Given the description of an element on the screen output the (x, y) to click on. 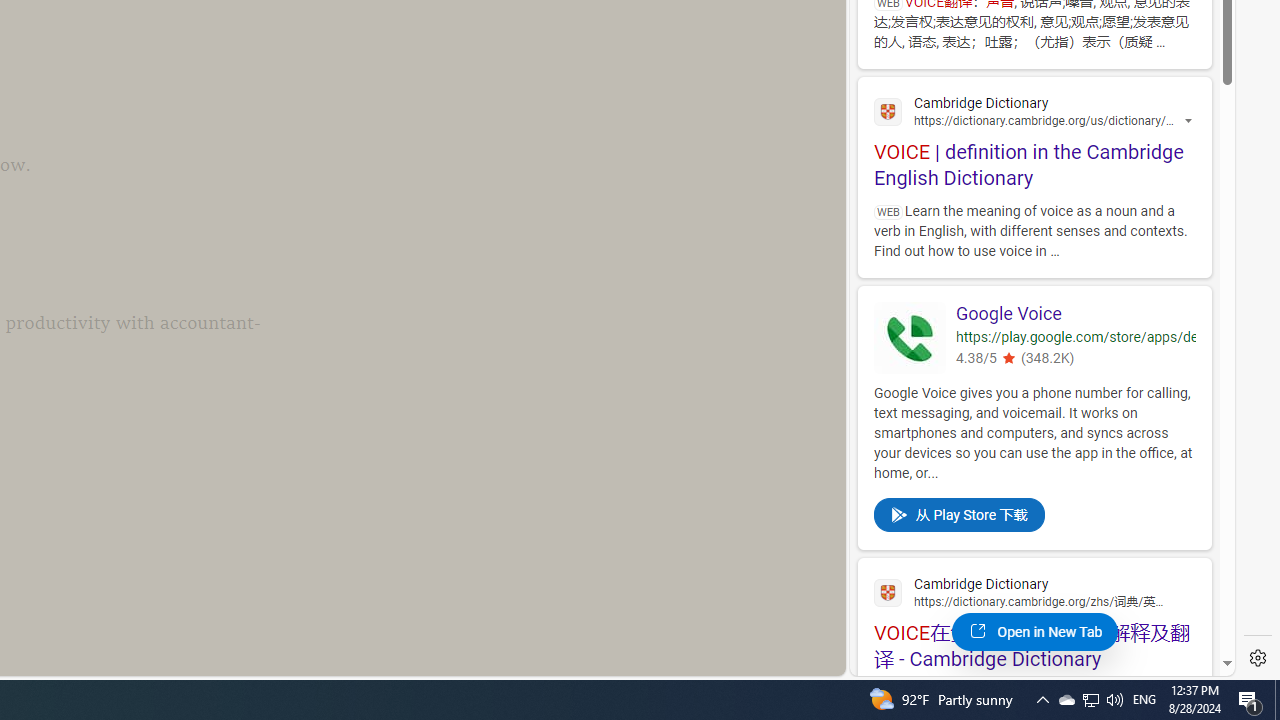
Cambridge Dictionary (1034, 591)
4.380543231964111 (1008, 358)
Actions for this site (1190, 121)
Google Voice (1075, 314)
Google Voice (1075, 313)
Settings (1258, 658)
VOICE | definition in the Cambridge English Dictionary (1034, 139)
4.38/5(348.2K) (1075, 359)
Google Voice (909, 337)
